Given the description of an element on the screen output the (x, y) to click on. 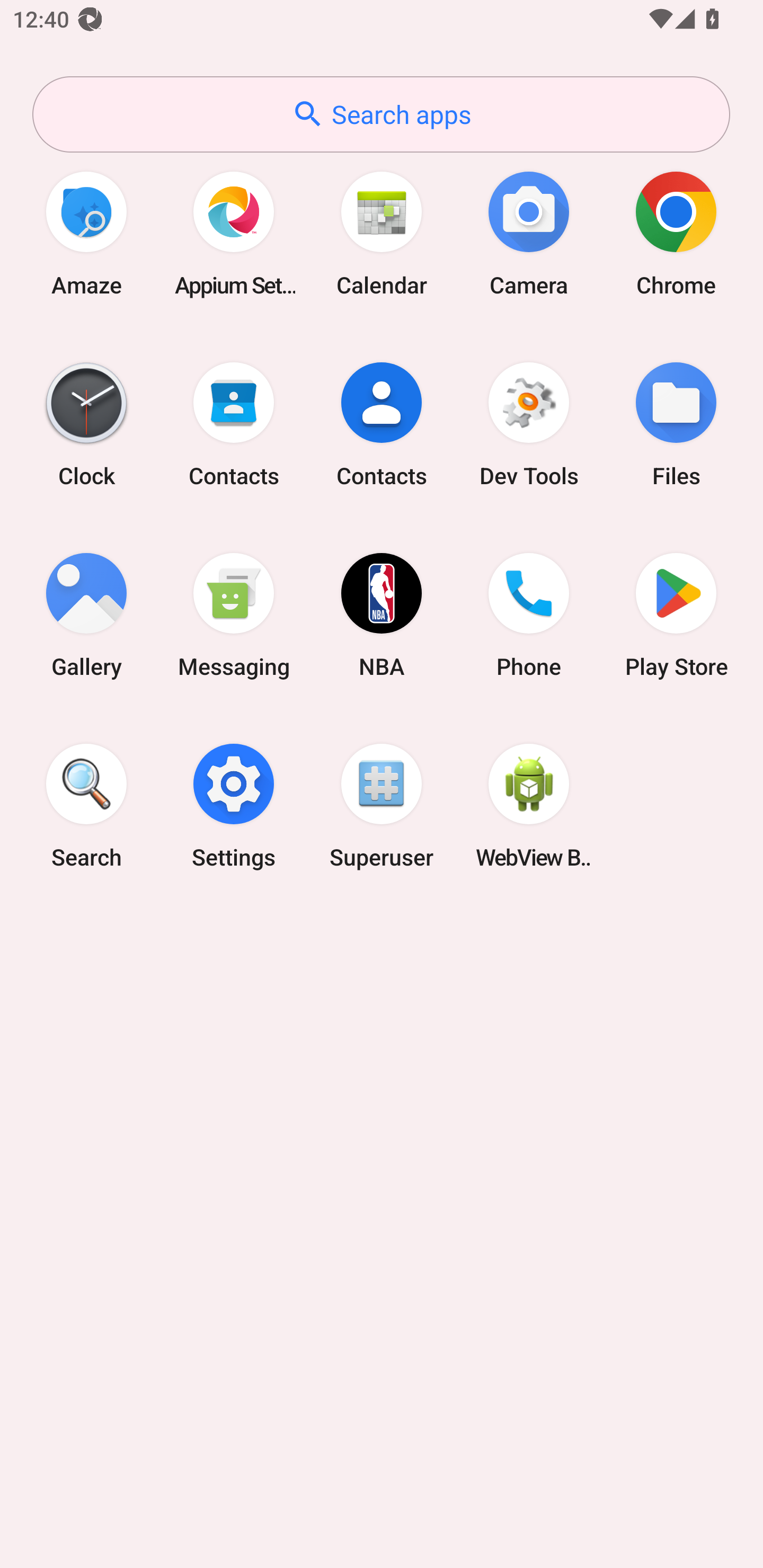
  Search apps (381, 114)
Amaze (86, 233)
Appium Settings (233, 233)
Calendar (381, 233)
Camera (528, 233)
Chrome (676, 233)
Clock (86, 424)
Contacts (233, 424)
Contacts (381, 424)
Dev Tools (528, 424)
Files (676, 424)
Gallery (86, 614)
Messaging (233, 614)
NBA (381, 614)
Phone (528, 614)
Play Store (676, 614)
Search (86, 805)
Settings (233, 805)
Superuser (381, 805)
WebView Browser Tester (528, 805)
